Given the description of an element on the screen output the (x, y) to click on. 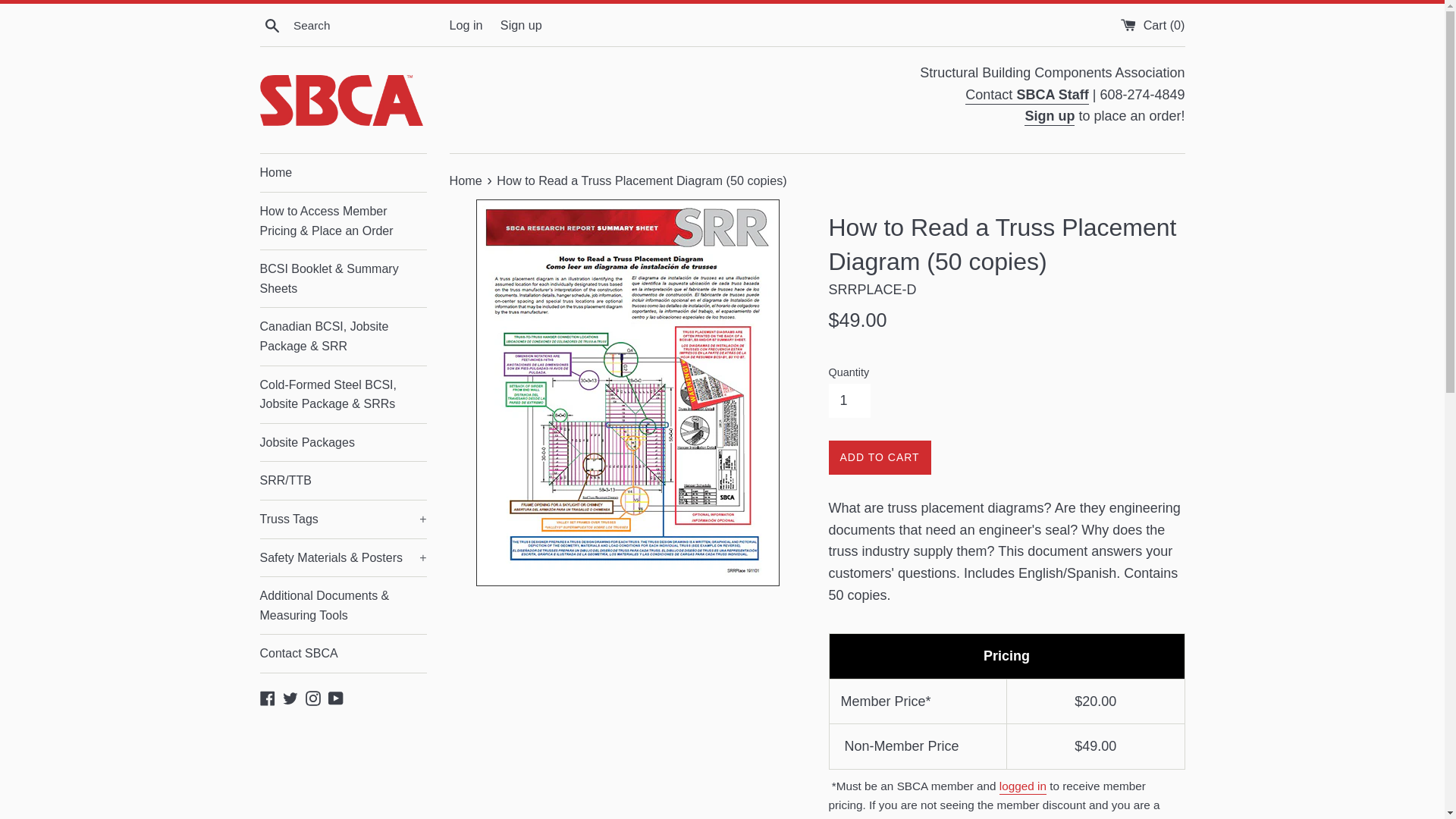
Sign up (520, 24)
Search (271, 24)
Back to the frontpage (466, 180)
Instagram (312, 697)
SBCA Store on YouTube (336, 697)
Contact SBCA (1036, 817)
Home (466, 180)
YouTube (336, 697)
Twitter (290, 697)
Log in (464, 24)
SBCA Store on Facebook (267, 697)
Jobsite Packages (342, 442)
Contact Us (1026, 95)
SBCA Store on Twitter (290, 697)
create an account (1049, 117)
